Given the description of an element on the screen output the (x, y) to click on. 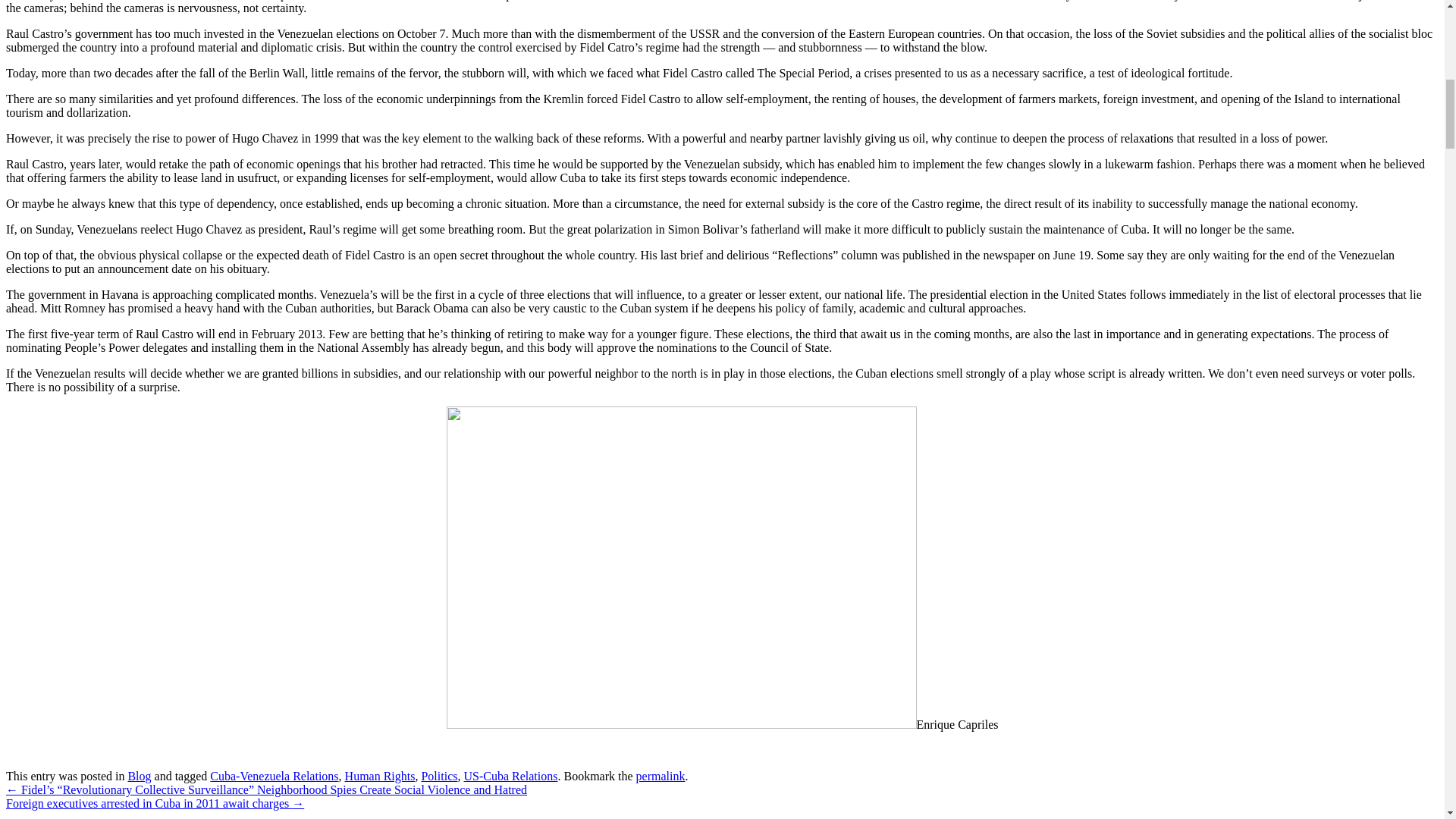
permalink (660, 775)
Blog (139, 775)
Cuba-Venezuela Relations (273, 775)
US-Cuba Relations (510, 775)
Politics (438, 775)
Human Rights (379, 775)
